Given the description of an element on the screen output the (x, y) to click on. 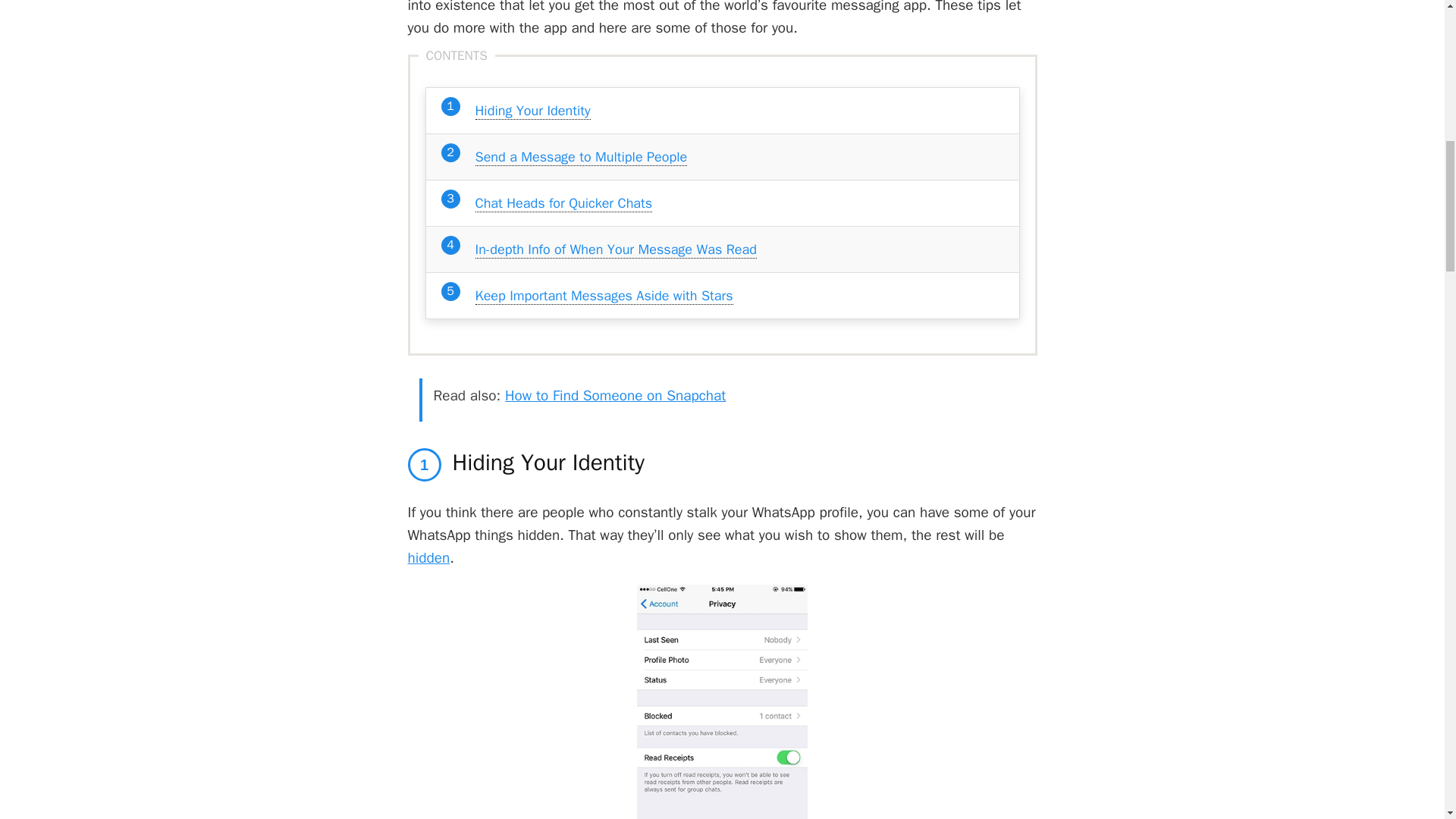
hidden (428, 557)
How to Find Someone on Snapchat (615, 395)
Hiding Your Identity (531, 110)
Keep Important Messages Aside with Stars (603, 295)
In-depth Info of When Your Message Was Read (614, 249)
Send a Message to Multiple People (580, 157)
Chat Heads for Quicker Chats (563, 203)
